Given the description of an element on the screen output the (x, y) to click on. 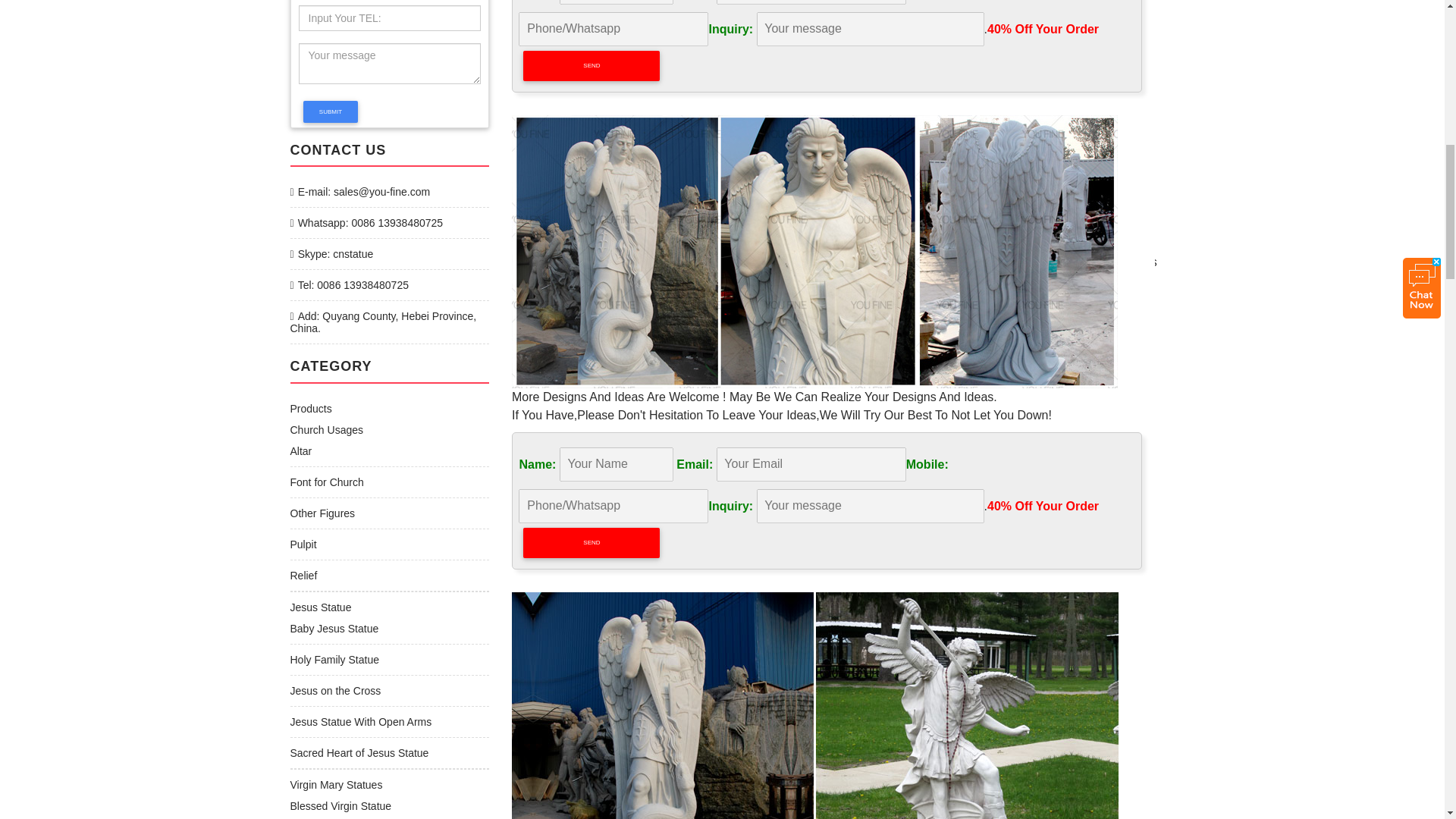
Send (590, 65)
Send (590, 542)
Send (590, 542)
Send (590, 65)
